Given the description of an element on the screen output the (x, y) to click on. 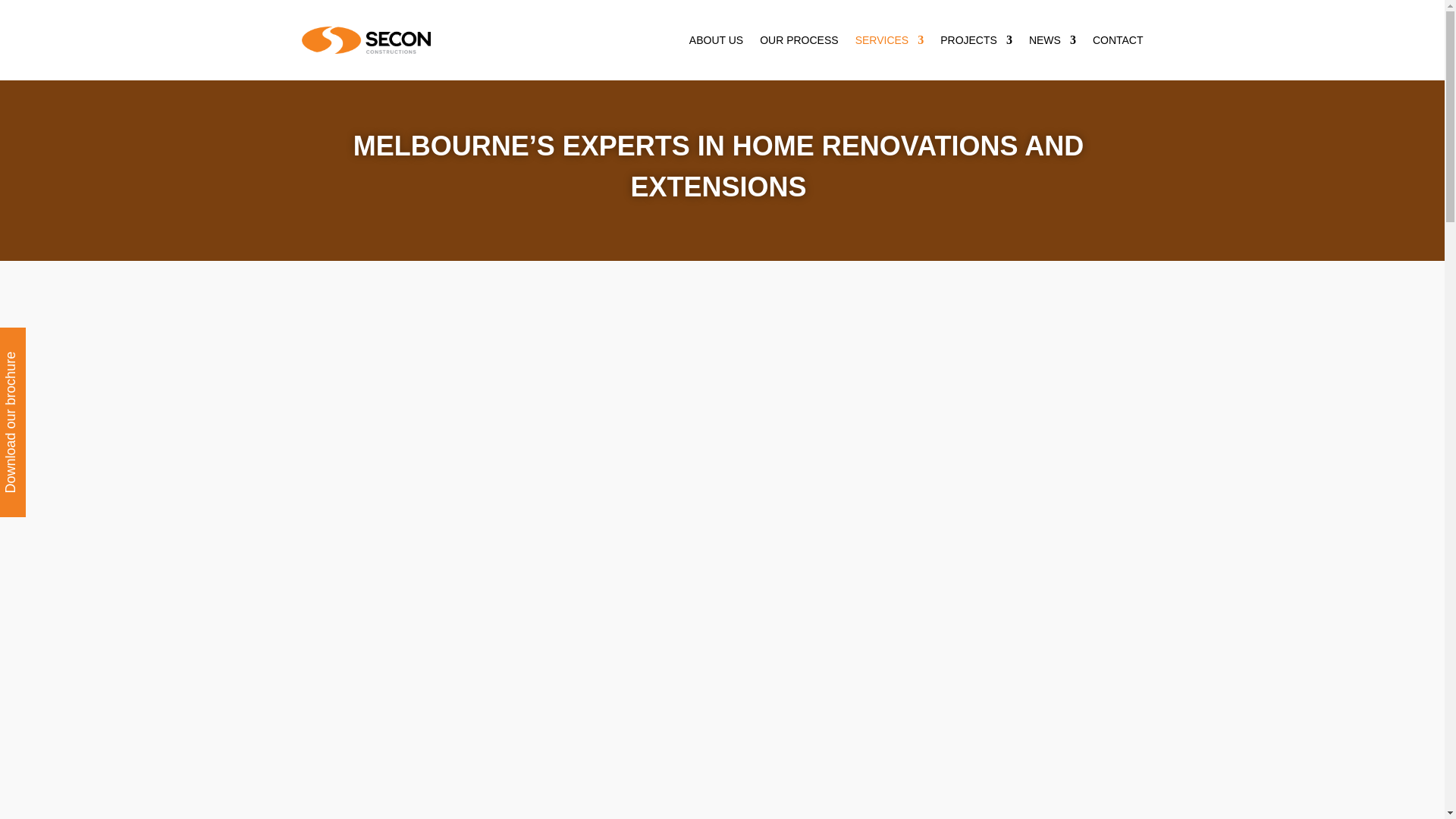
ABOUT US (715, 39)
OUR PROCESS (799, 39)
SERVICES (890, 39)
PROJECTS (975, 39)
